Given the description of an element on the screen output the (x, y) to click on. 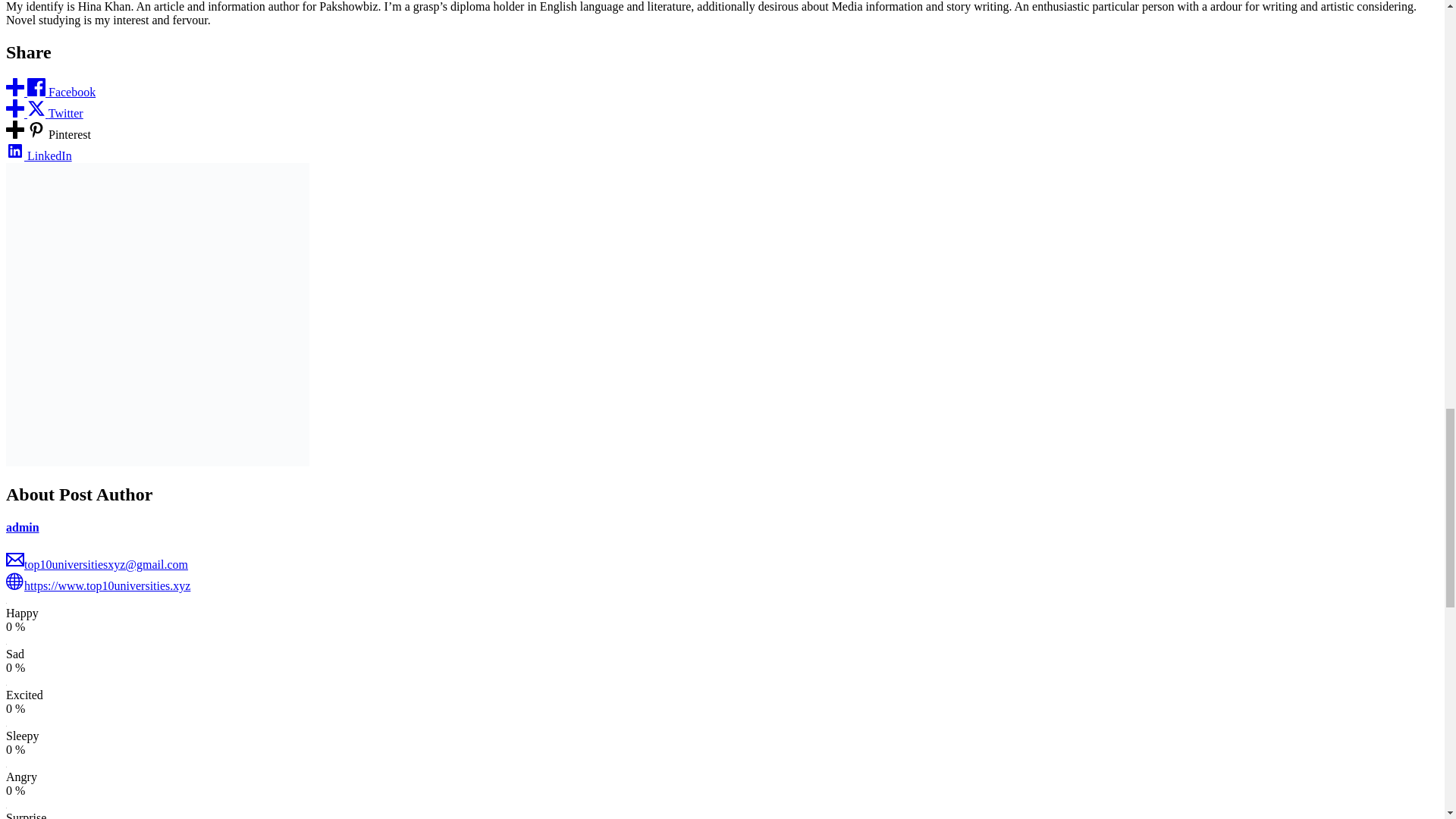
Pinterest (47, 133)
Twitter (43, 113)
Browse Author Articles (35, 25)
admin (22, 526)
LinkedIn (38, 155)
Facebook (50, 91)
